Given the description of an element on the screen output the (x, y) to click on. 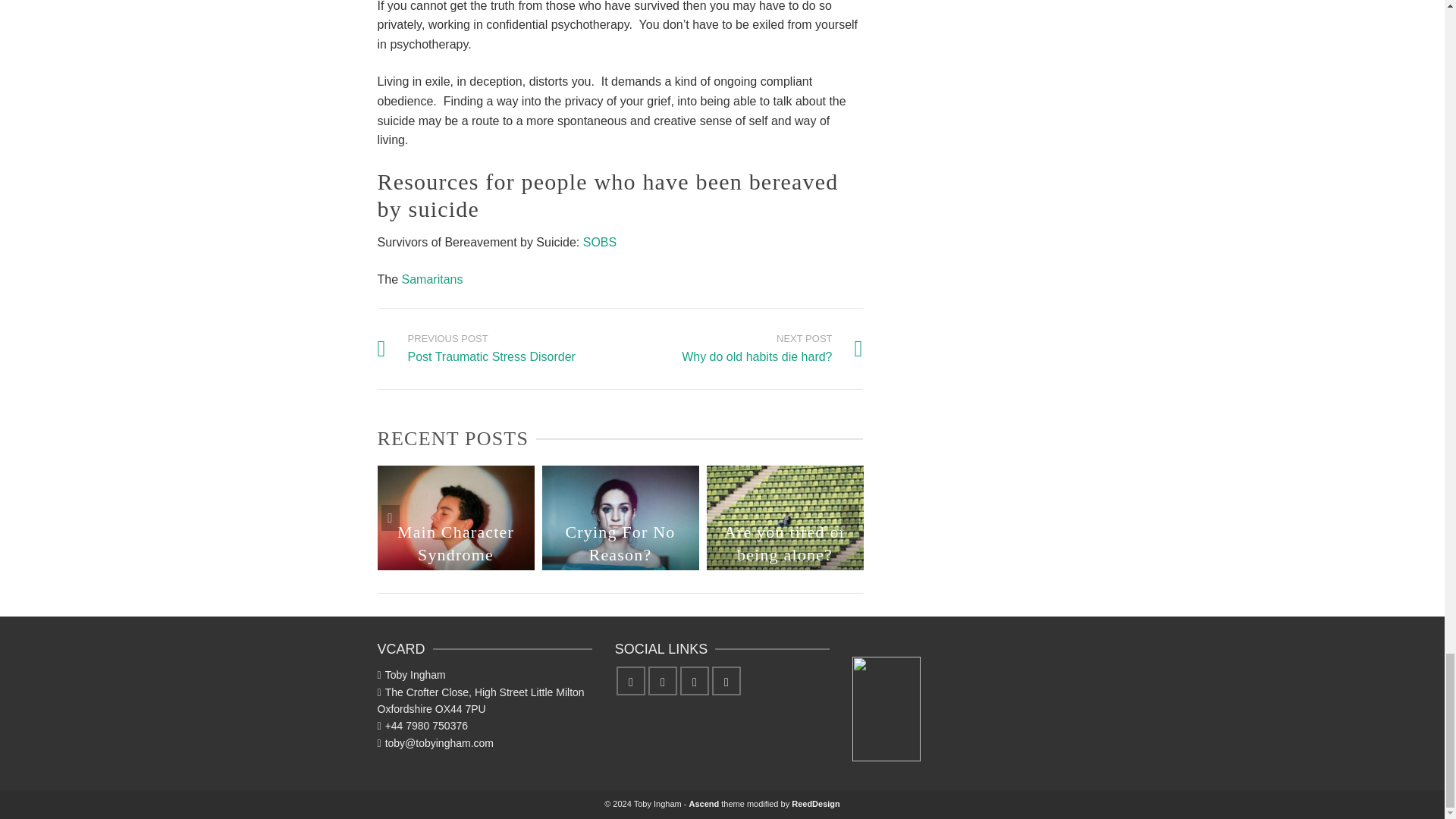
SOBS (476, 348)
Samaritans (771, 348)
